Given the description of an element on the screen output the (x, y) to click on. 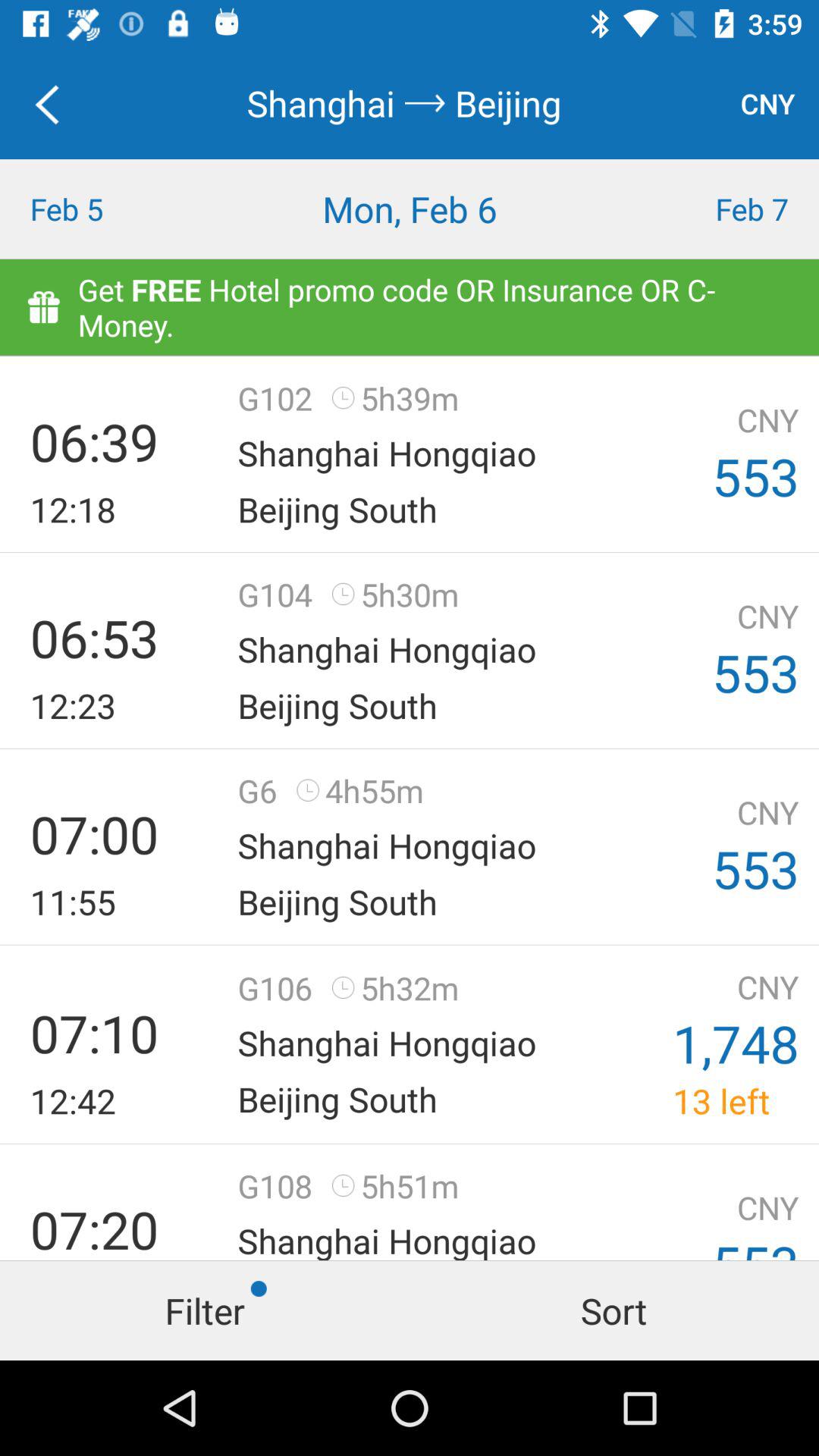
scroll to the mon, feb 6 item (409, 208)
